Given the description of an element on the screen output the (x, y) to click on. 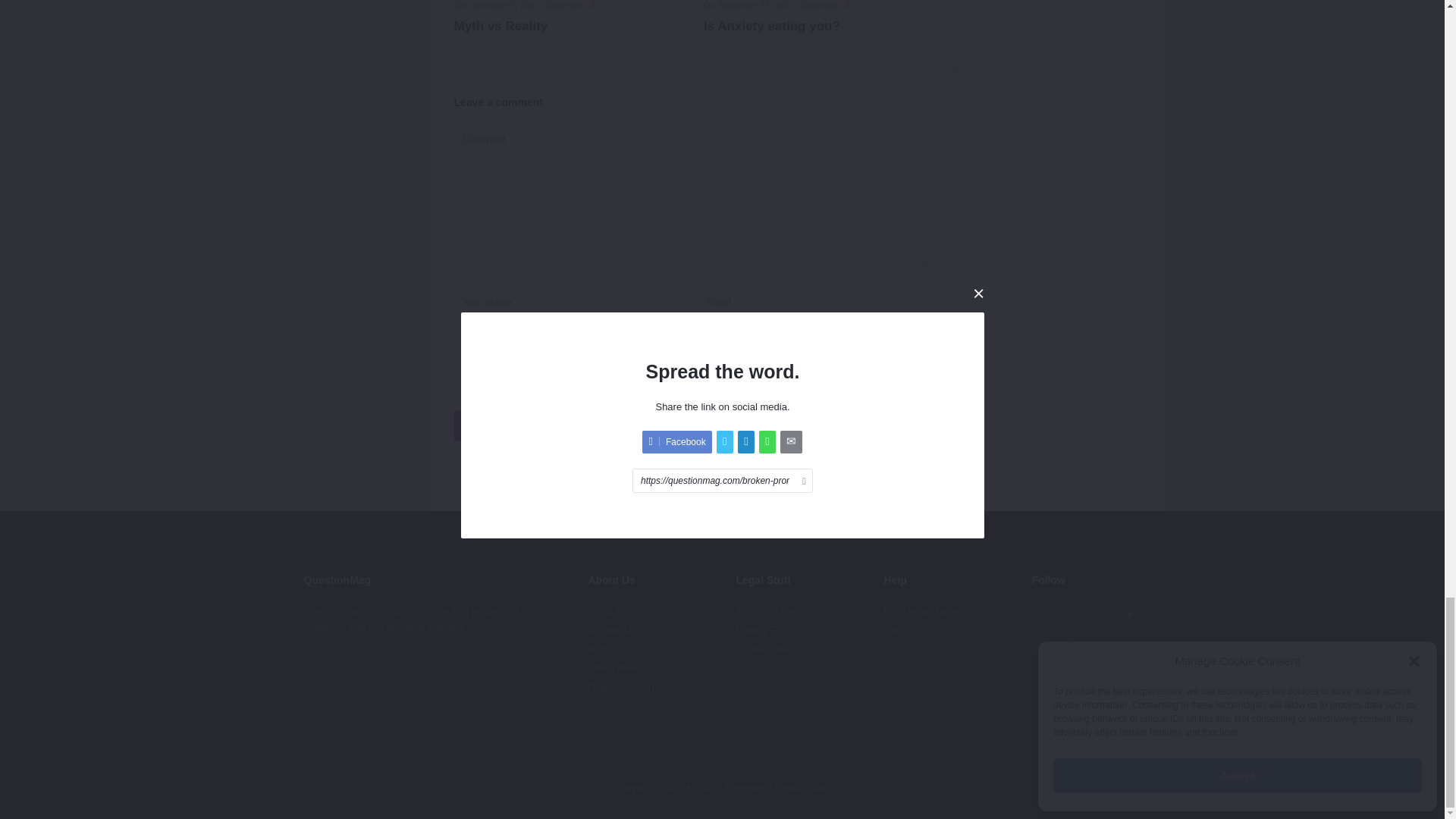
Submit (691, 426)
Is Anxiety eating you? (817, 26)
Myth vs Reality (566, 26)
yes (461, 385)
